Given the description of an element on the screen output the (x, y) to click on. 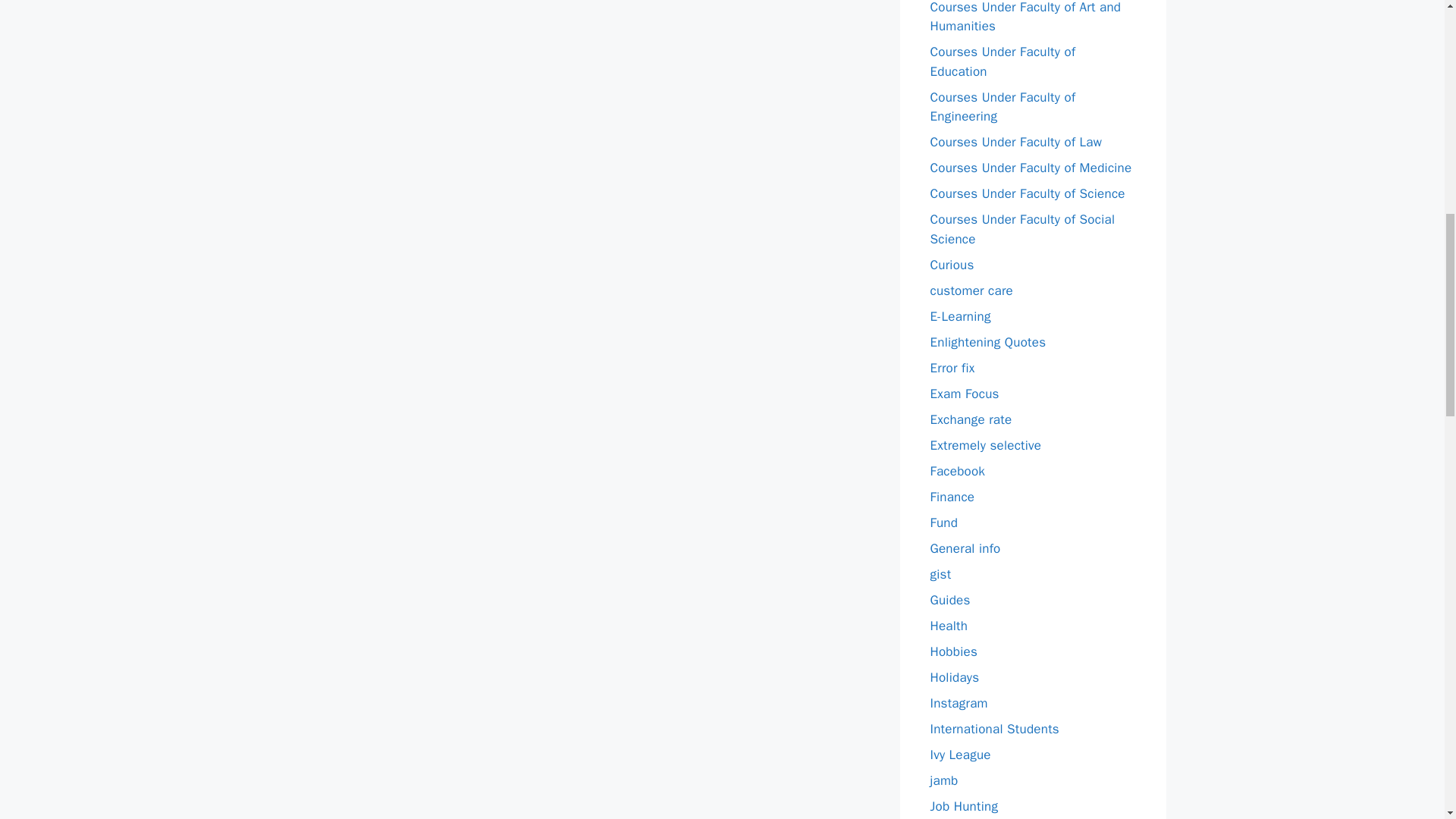
Curious (952, 263)
Courses Under Faculty of Art and Humanities (1025, 17)
Courses Under Faculty of Social Science (1022, 229)
Courses Under Faculty of Engineering (1002, 107)
Courses Under Faculty of Medicine (1030, 167)
Scroll back to top (1406, 720)
customer care (971, 289)
Courses Under Faculty of Science (1027, 193)
E-Learning (960, 315)
Courses Under Faculty of Law (1016, 141)
